Given the description of an element on the screen output the (x, y) to click on. 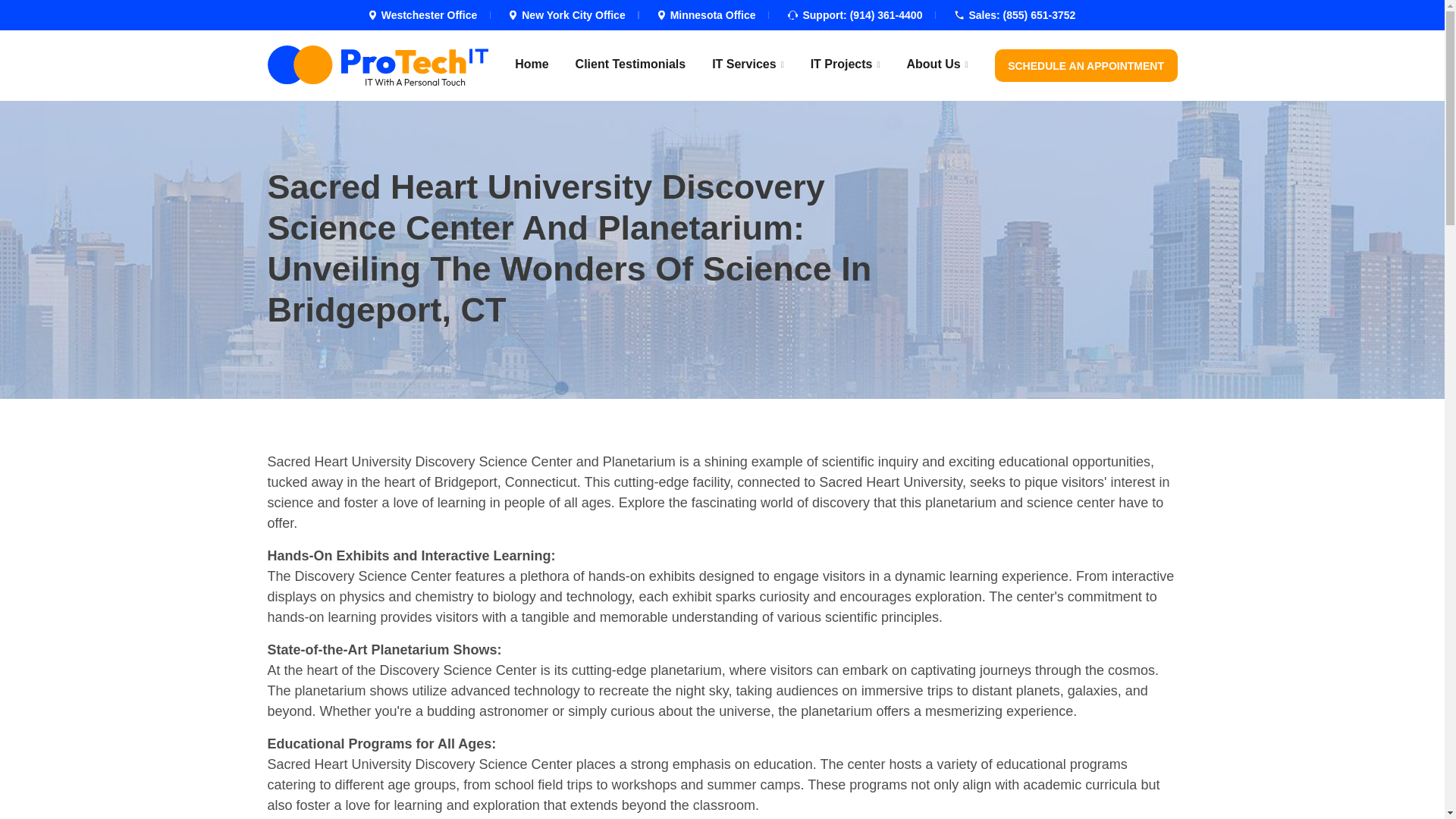
New York City Office (572, 15)
IT Projects (845, 63)
Client Testimonials (630, 63)
Minnesota Office (712, 15)
About Us (937, 63)
IT Services (747, 63)
ProTech IT Solutions (376, 65)
Home (531, 63)
Westchester Office (429, 15)
